Given the description of an element on the screen output the (x, y) to click on. 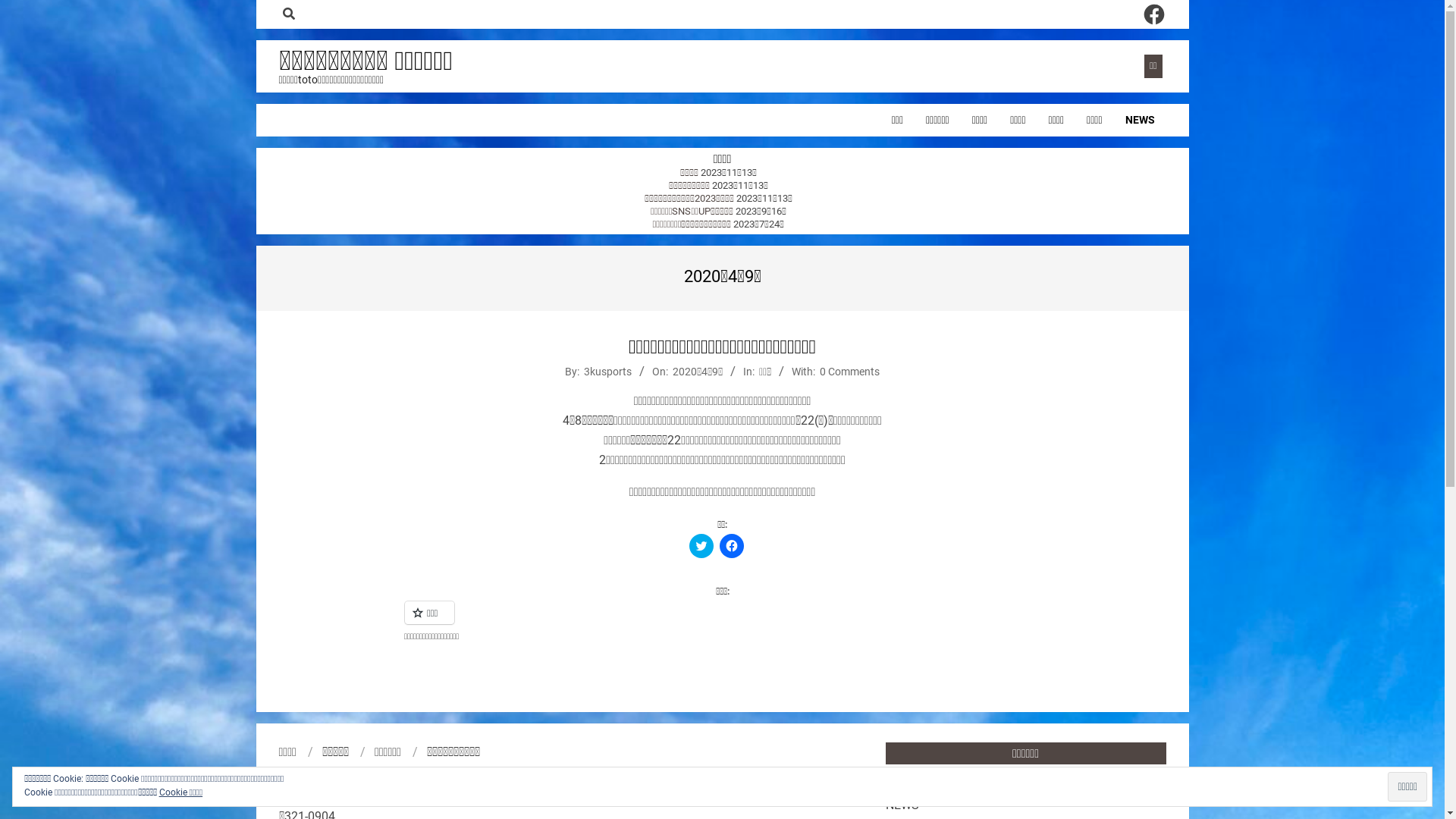
HOME Element type: text (902, 785)
NEWS Element type: text (902, 804)
Facebook Element type: text (1154, 14)
3kusports Element type: text (607, 371)
Search Element type: text (20, 8)
0 Comments Element type: text (849, 371)
NEWS Element type: text (1139, 119)
